Given the description of an element on the screen output the (x, y) to click on. 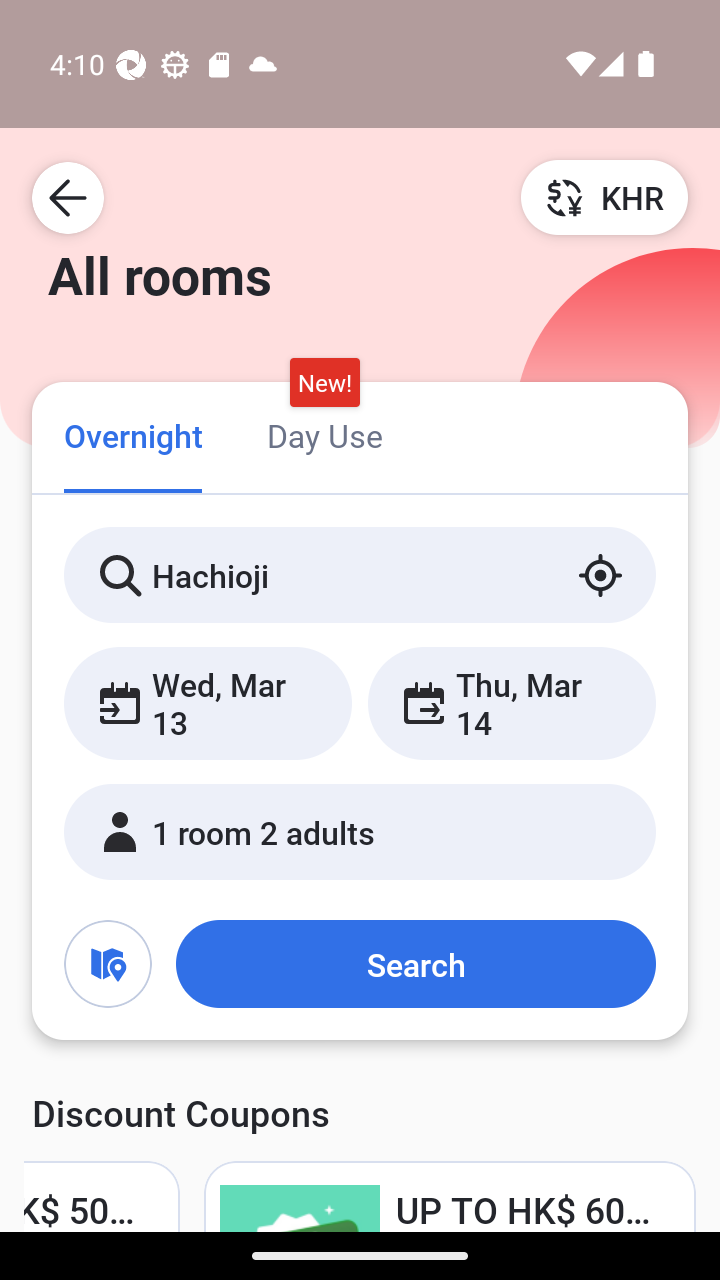
KHR (604, 197)
New! (324, 383)
Day Use (324, 434)
Hachioji (359, 575)
Wed, Mar 13 (208, 703)
Thu, Mar 14 (511, 703)
1 room 2 adults (359, 831)
Search (415, 964)
